Given the description of an element on the screen output the (x, y) to click on. 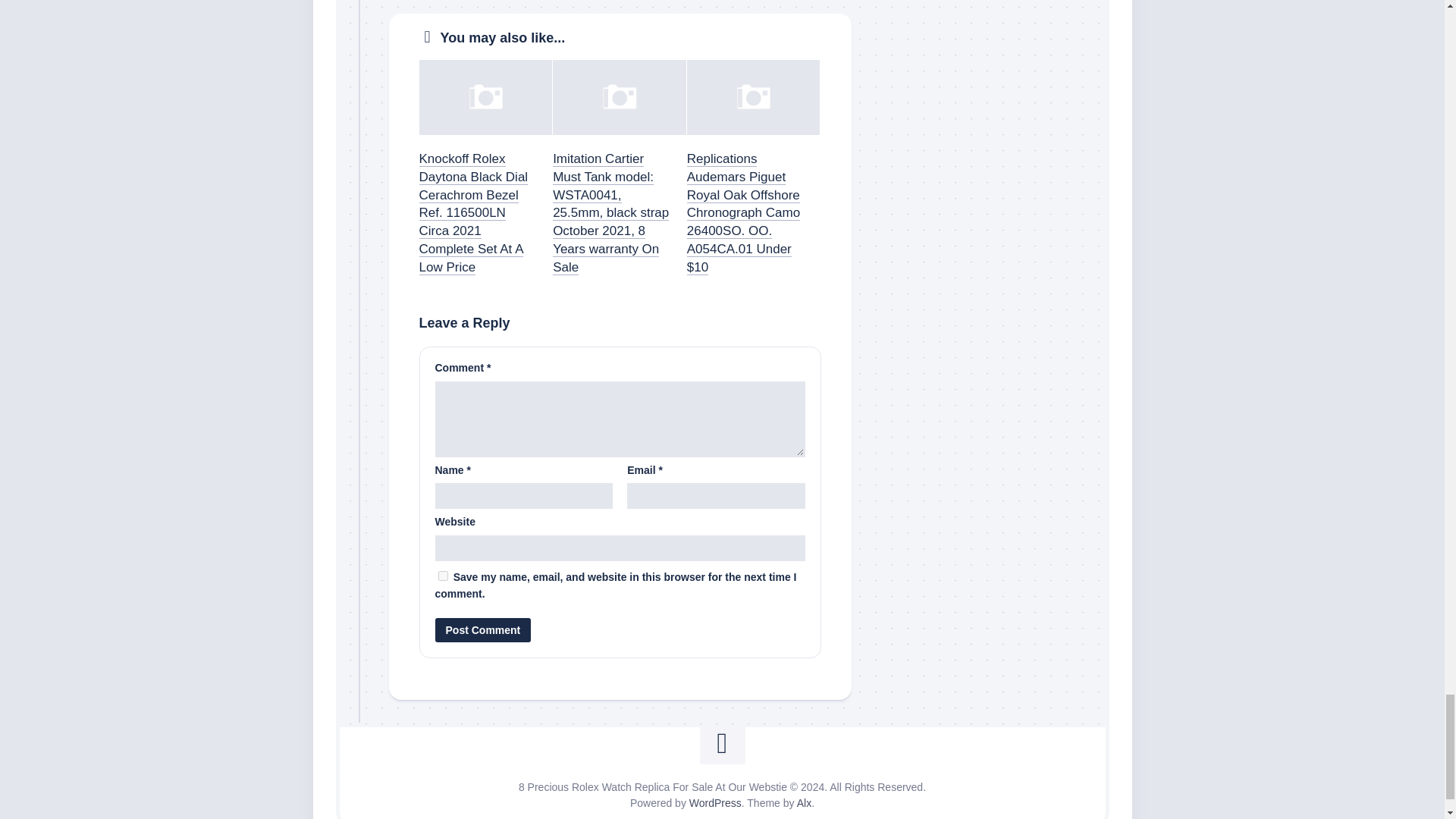
Post Comment (483, 630)
yes (443, 575)
Post Comment (483, 630)
